Given the description of an element on the screen output the (x, y) to click on. 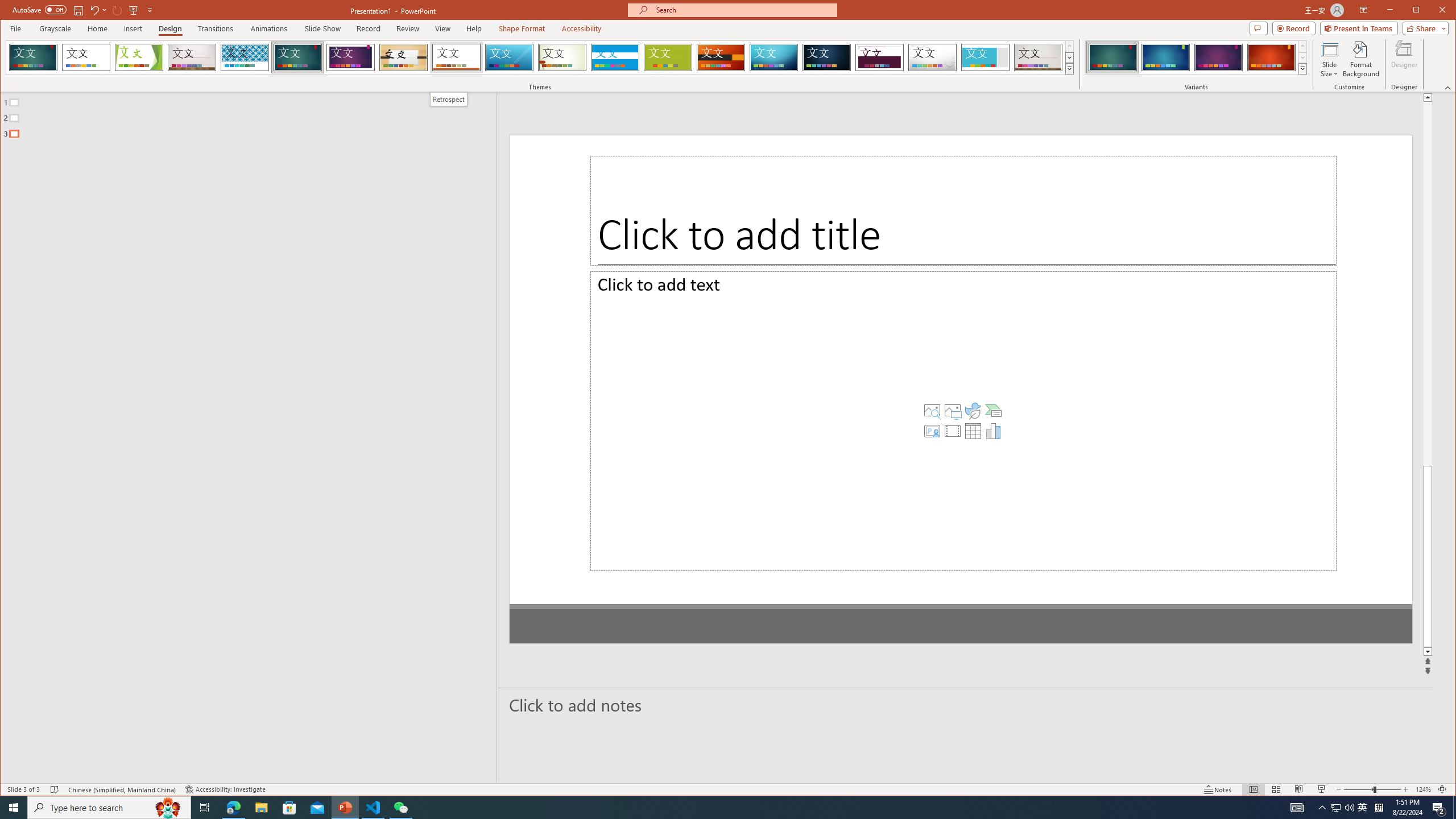
Ion Boardroom (350, 57)
Organic (403, 57)
Stock Images (890, 432)
Insert an Icon (931, 432)
Slice (509, 57)
Format Background (1360, 59)
